Given the description of an element on the screen output the (x, y) to click on. 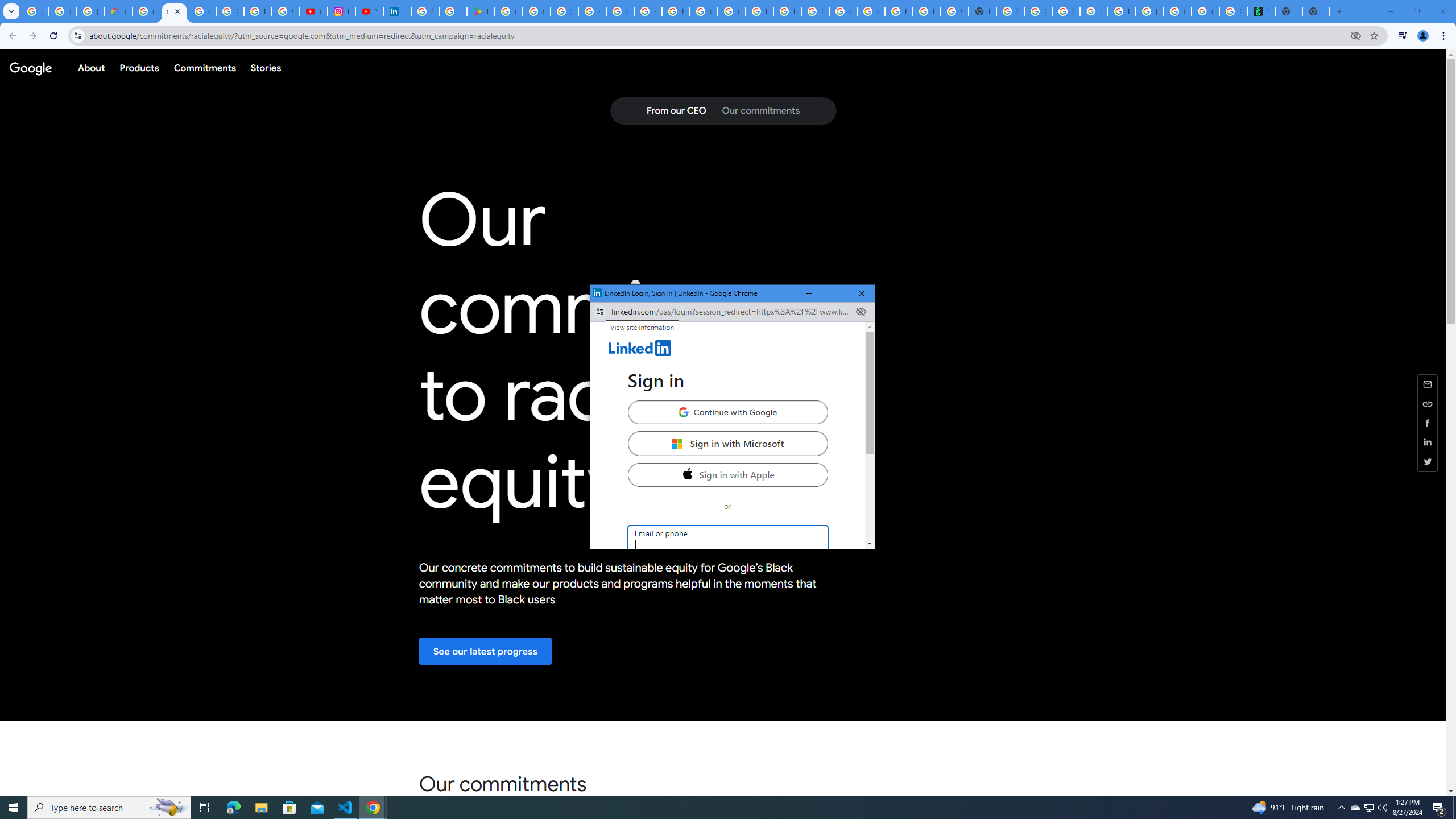
Type here to search (108, 807)
Address and search bar (1368, 807)
Email or phone (730, 311)
Action Center, 2 new notifications (727, 539)
Search highlights icon opens search home window (1439, 807)
Sign in with Microsoft (167, 807)
Maximize (727, 443)
View site information (835, 293)
Microsoft Edge (599, 311)
